Given the description of an element on the screen output the (x, y) to click on. 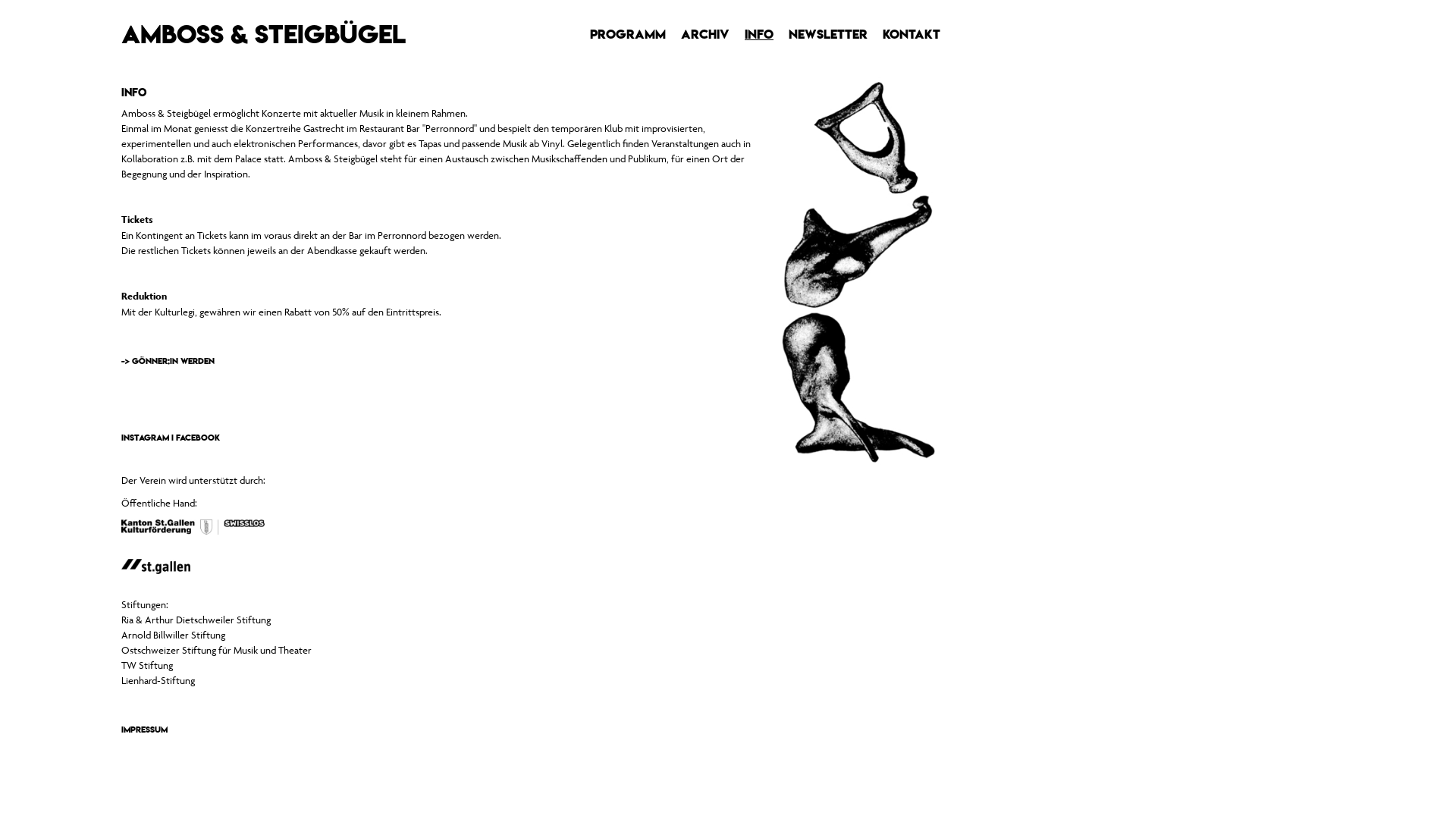
ARCHIV Element type: text (704, 34)
INFO Element type: text (758, 34)
IMPRESSUM Element type: text (144, 729)
INSTAGRAM Element type: text (145, 437)
FACEBOOK Element type: text (197, 437)
KONTAKT Element type: text (911, 34)
PROGRAMM Element type: text (627, 34)
NEWSLETTER Element type: text (827, 34)
